Given the description of an element on the screen output the (x, y) to click on. 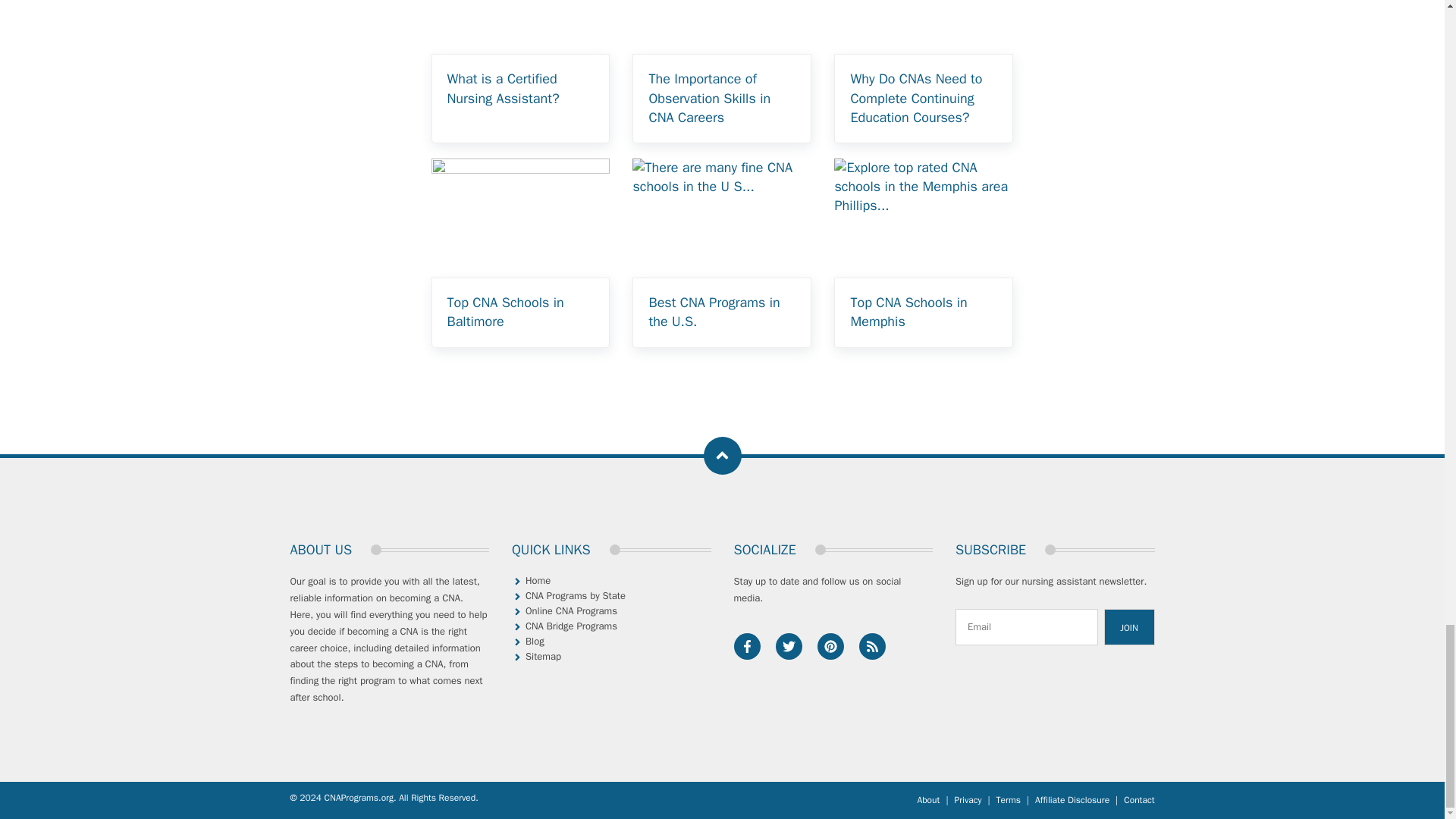
Pinterest (830, 646)
Twitter (788, 646)
Feed (872, 646)
Facebook (746, 646)
